Given the description of an element on the screen output the (x, y) to click on. 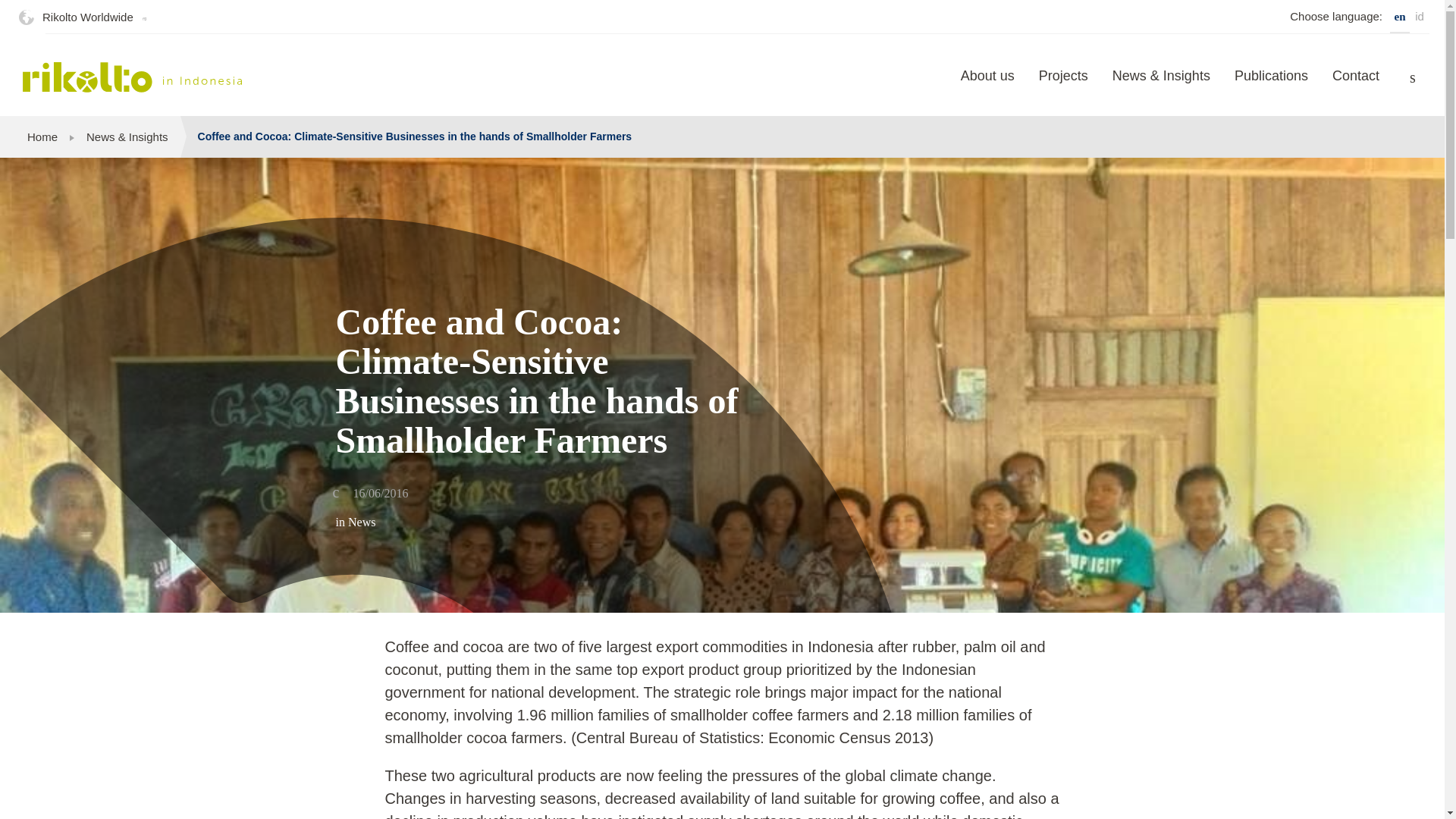
Contact (1355, 87)
Home (41, 137)
Vredeseilanden (133, 77)
Publications (1271, 87)
News (361, 521)
s (1412, 77)
Current projects (1063, 87)
About us (987, 87)
s (1412, 77)
Projects (1063, 87)
Rikolto Worldwide (87, 17)
